Given the description of an element on the screen output the (x, y) to click on. 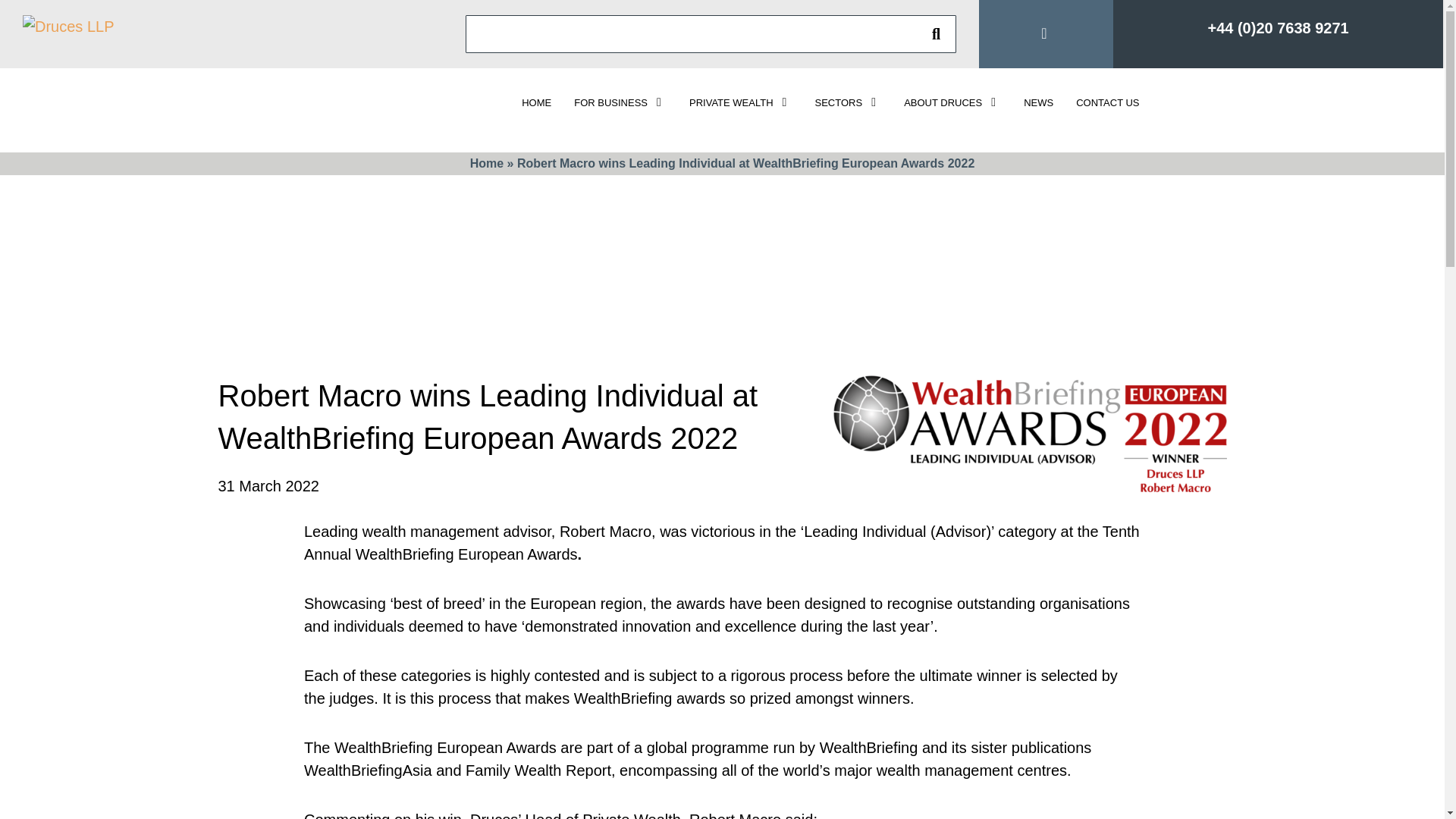
FOR BUSINESS (619, 101)
HOME (536, 101)
Search (936, 33)
